Given the description of an element on the screen output the (x, y) to click on. 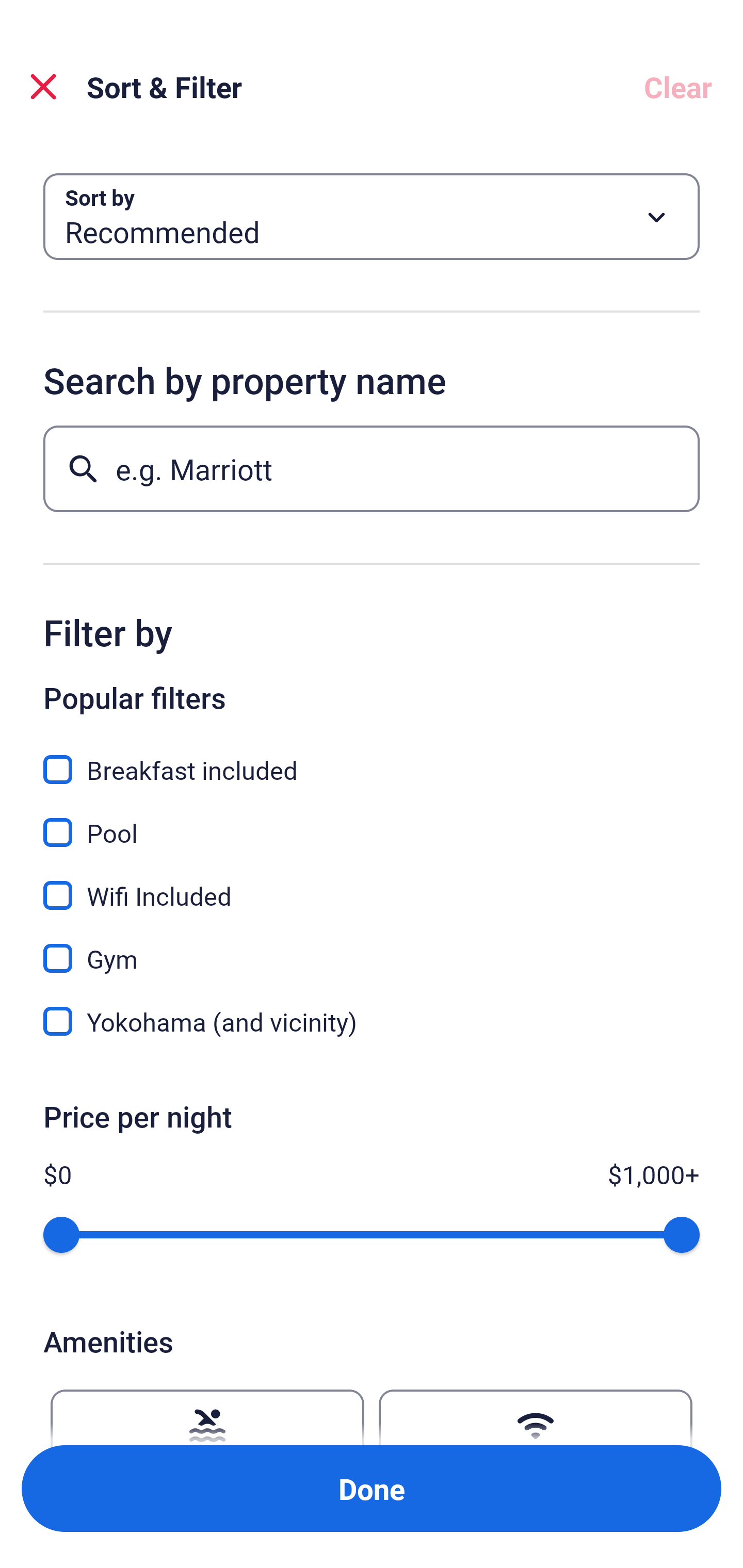
Close Sort and Filter (43, 86)
Clear (677, 86)
Sort by Button Recommended (371, 217)
e.g. Marriott Button (371, 468)
Breakfast included, Breakfast included (371, 757)
Pool, Pool (371, 821)
Wifi Included, Wifi Included (371, 883)
Gym, Gym (371, 946)
Yokohama (and vicinity), Yokohama (and vicinity) (371, 1021)
Apply and close Sort and Filter Done (371, 1488)
